Given the description of an element on the screen output the (x, y) to click on. 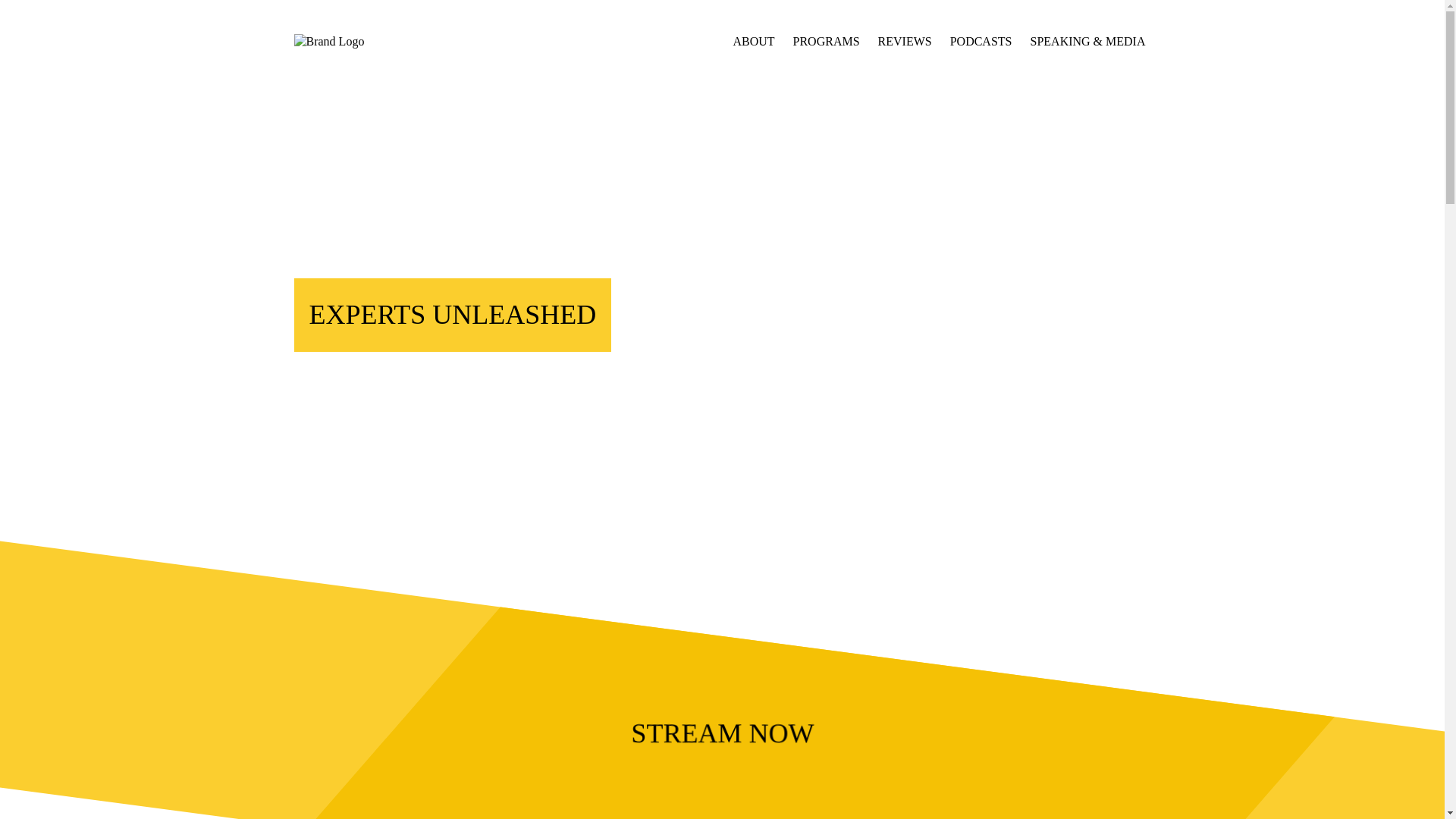
ABOUT (753, 41)
REVIEWS (904, 41)
PODCASTS (981, 41)
PROGRAMS (826, 41)
